Given the description of an element on the screen output the (x, y) to click on. 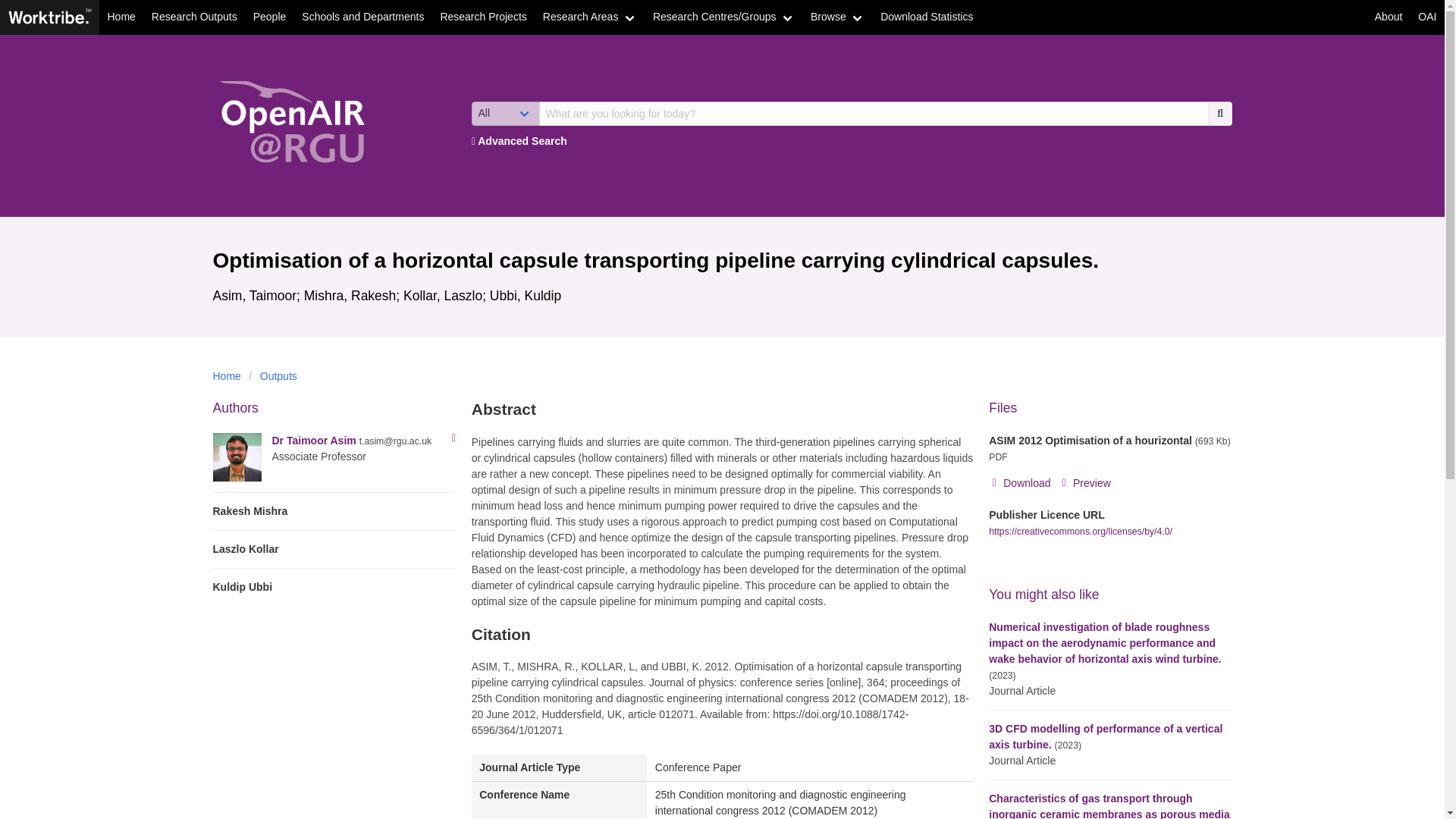
People (269, 17)
Schools and Departments (363, 17)
Research Projects (483, 17)
Research Areas (589, 17)
Research Outputs (193, 17)
2.0.108 (48, 16)
Home (120, 17)
Browse (837, 17)
